Given the description of an element on the screen output the (x, y) to click on. 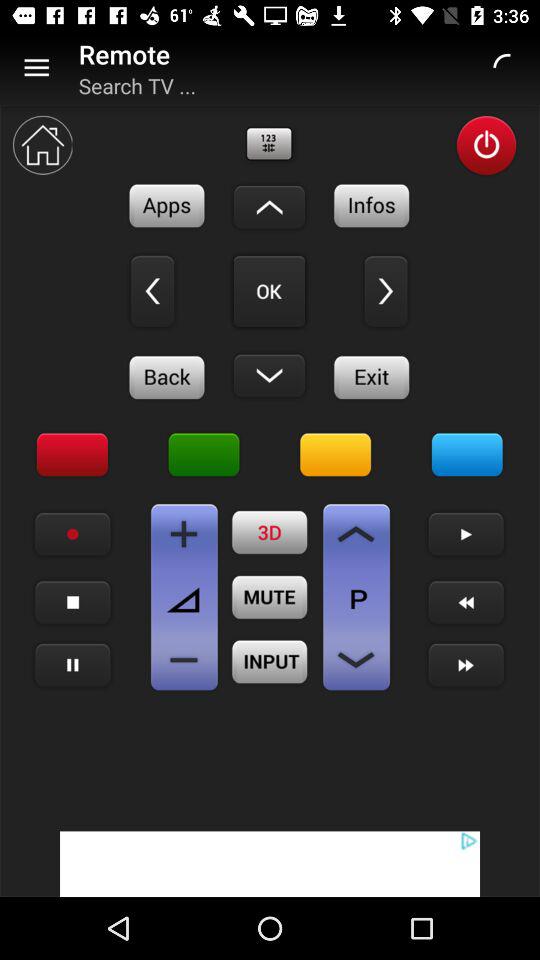
decrement button (183, 660)
